Given the description of an element on the screen output the (x, y) to click on. 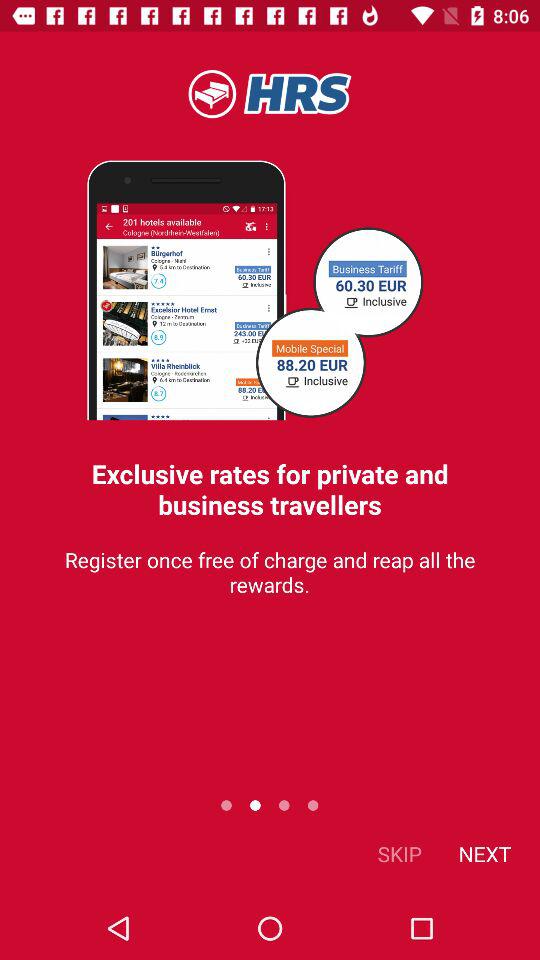
turn on the icon to the right of the skip icon (484, 853)
